Given the description of an element on the screen output the (x, y) to click on. 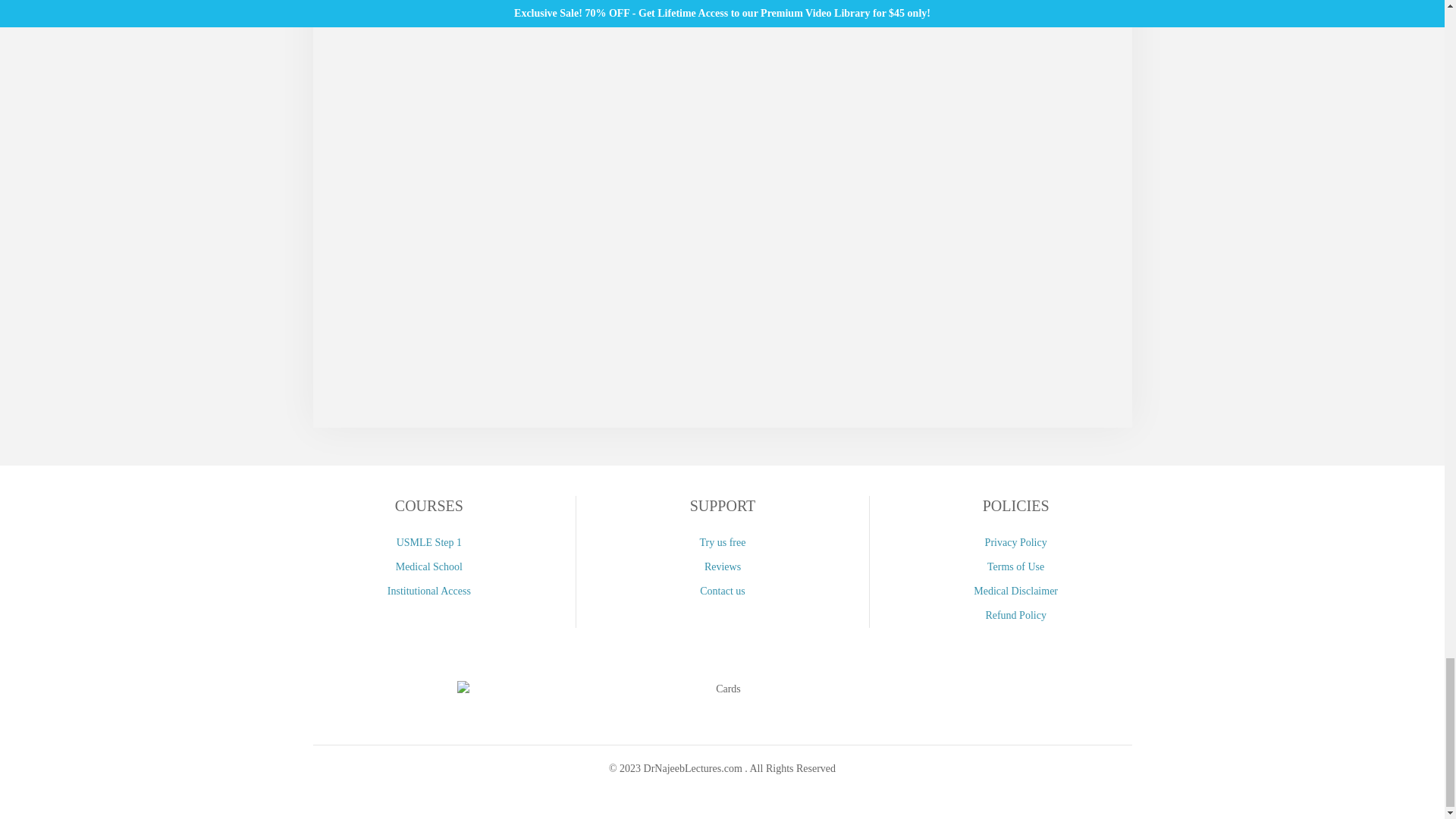
Medical Disclaimer (1015, 591)
Contact us (722, 591)
Refund Policy (1015, 615)
Institutional Access (428, 591)
Privacy Policy (1015, 542)
Reviews (722, 567)
Try us free (722, 542)
USMLE Step 1 (428, 542)
Medical School (428, 567)
Terms of Use (1015, 567)
